Given the description of an element on the screen output the (x, y) to click on. 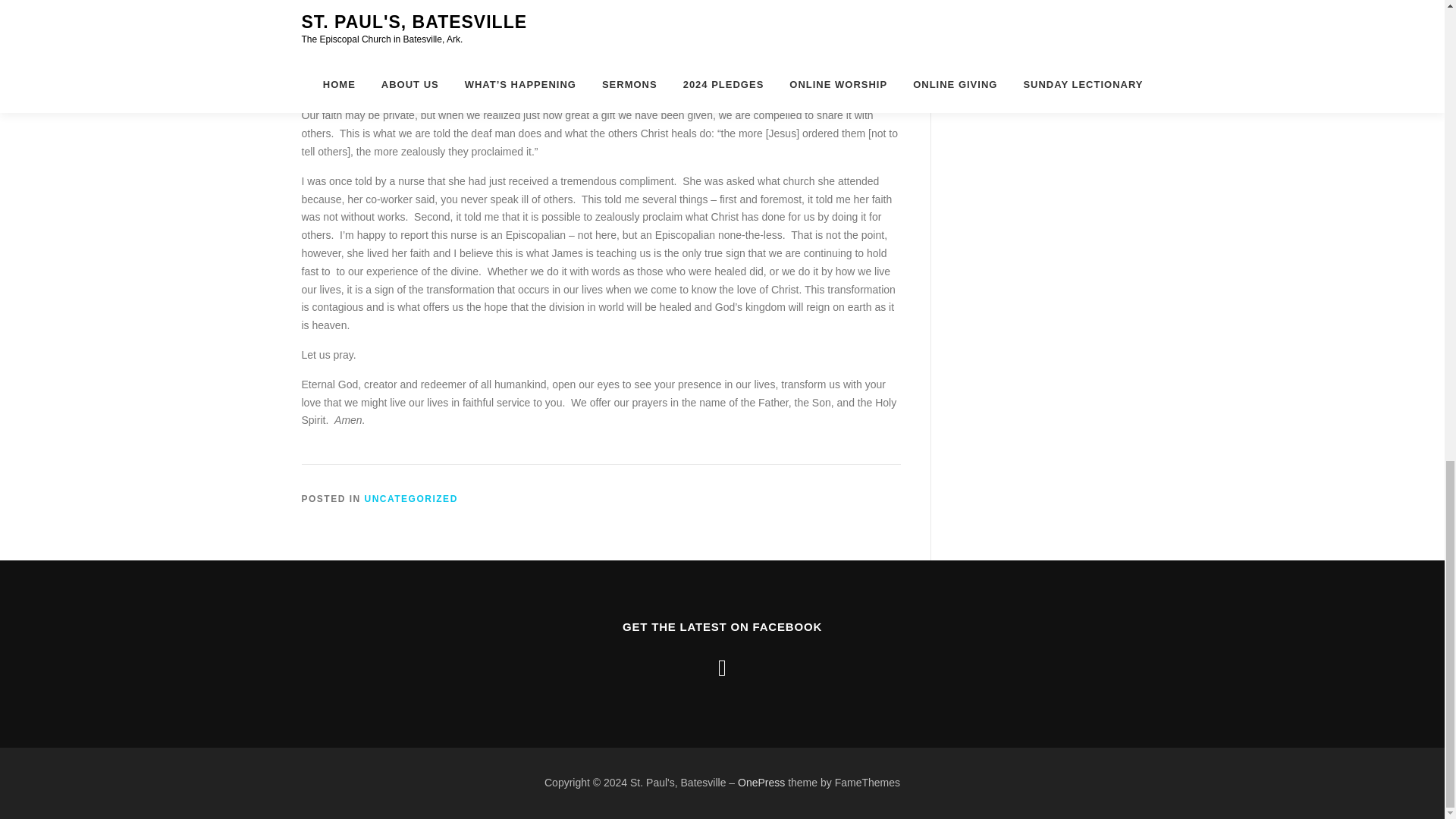
UNCATEGORIZED (411, 498)
OnePress (761, 782)
